Given the description of an element on the screen output the (x, y) to click on. 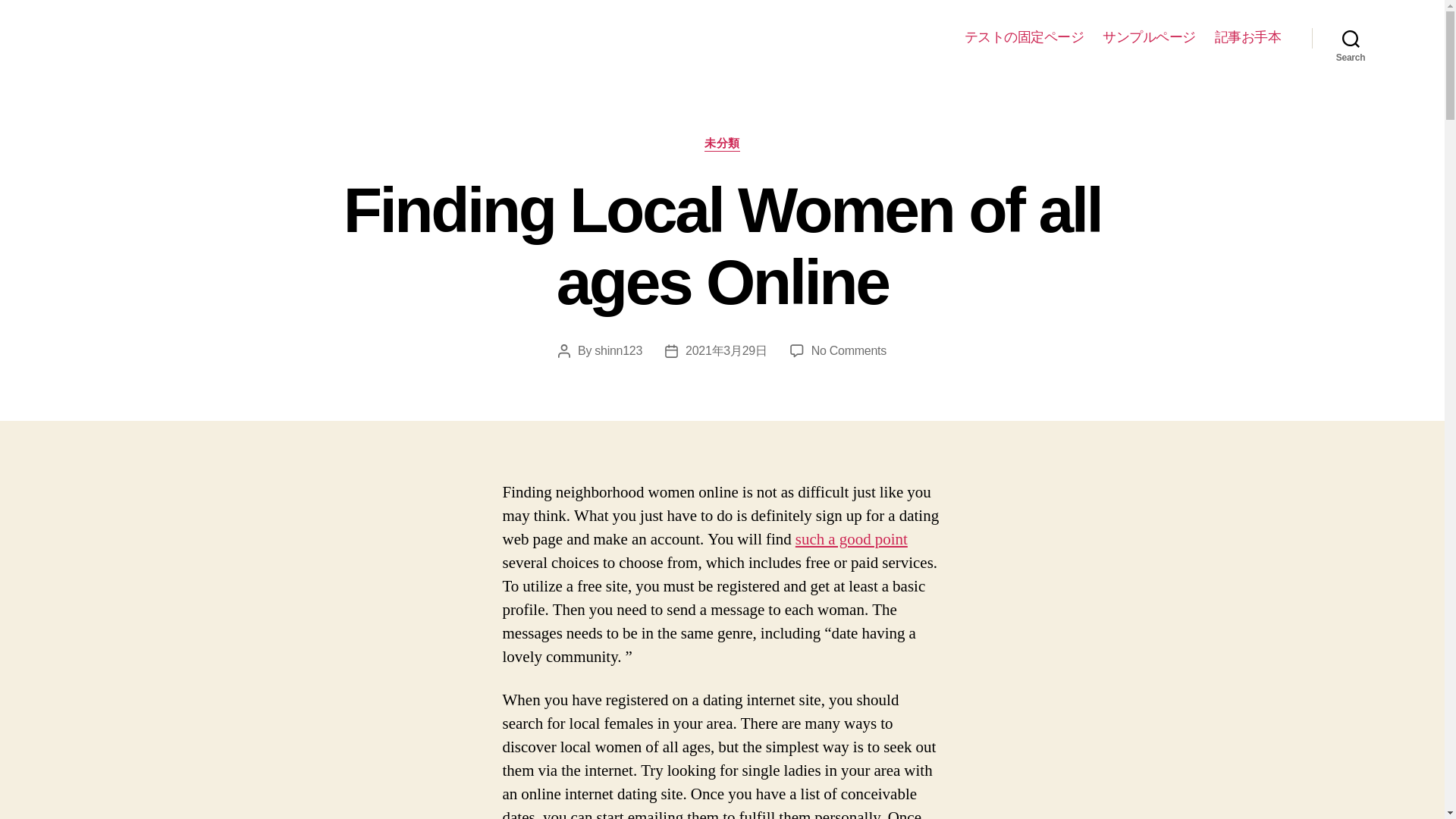
such a good point (848, 350)
shinn123 (850, 539)
Search (618, 350)
